Given the description of an element on the screen output the (x, y) to click on. 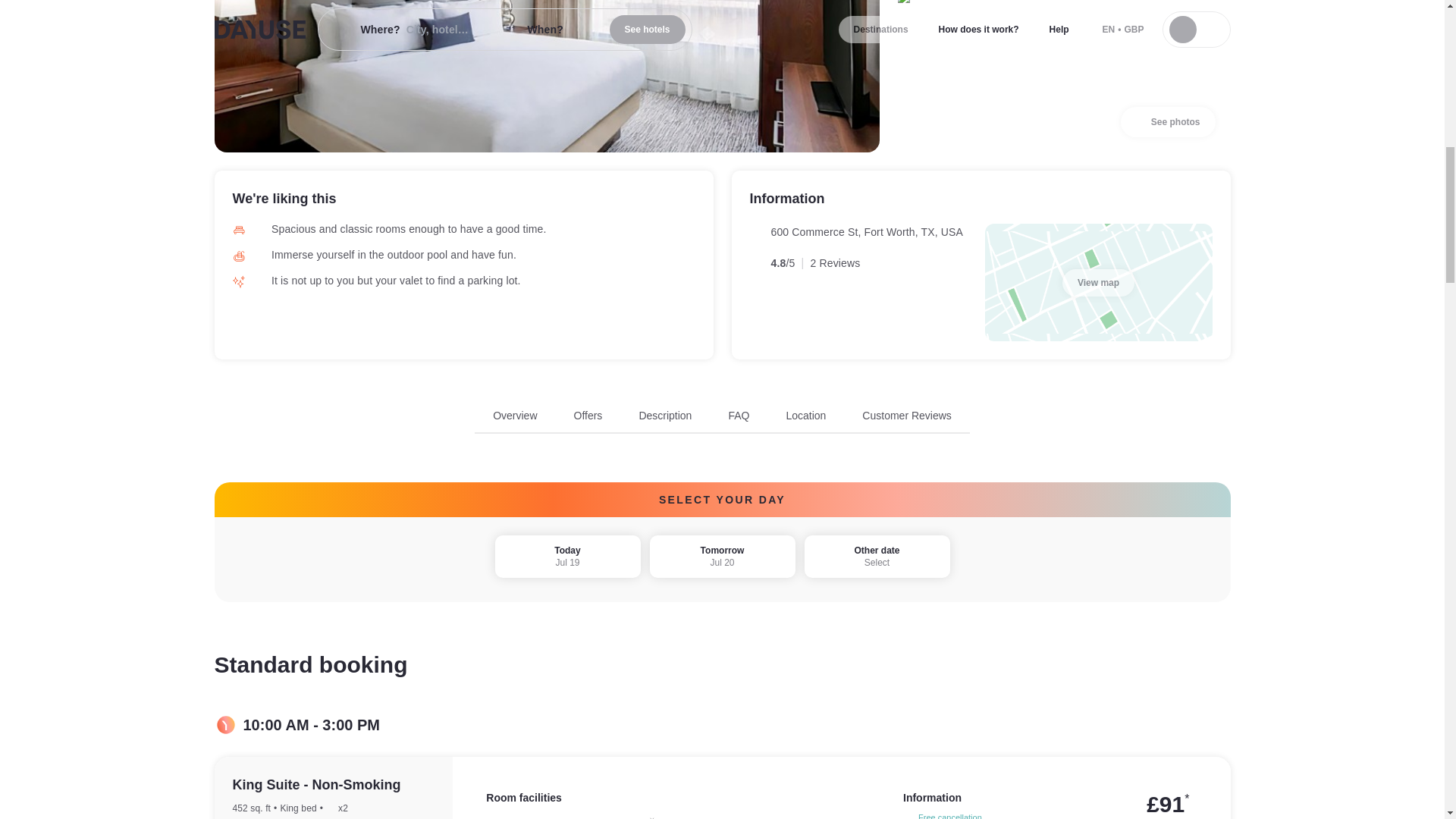
Customer Reviews (721, 420)
View map (905, 415)
Overview (721, 556)
See photos (1098, 282)
Description (515, 415)
FAQ (1168, 122)
Location (665, 415)
Offers (738, 415)
